Given the description of an element on the screen output the (x, y) to click on. 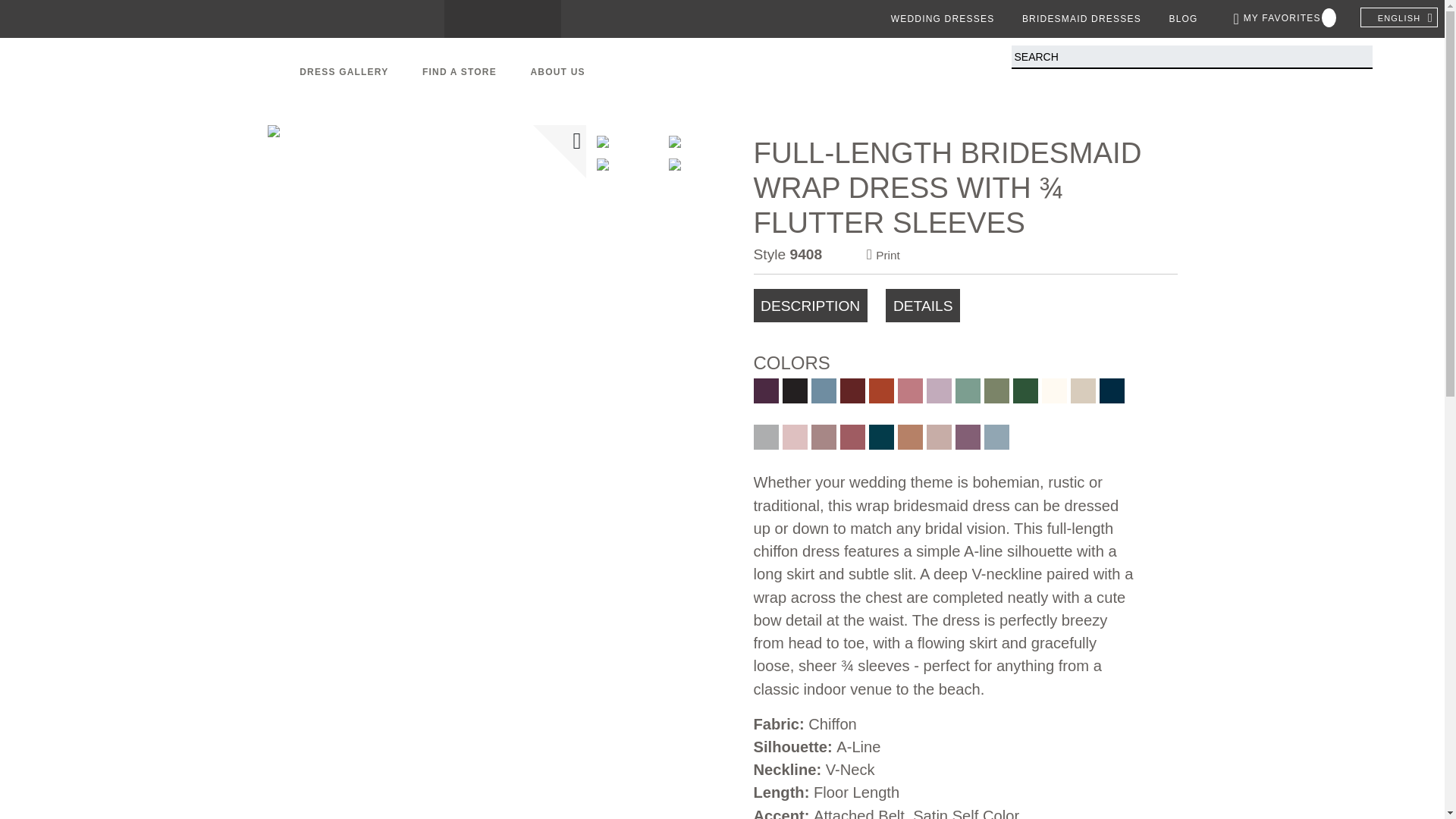
Bluestone (822, 390)
Eucalyptus (967, 390)
Dusty Lavender (939, 390)
Click to zoom (425, 267)
Linen (1083, 390)
My Favorites (1284, 17)
Black (795, 390)
Burgundy (852, 390)
Please enter at least three characters (1192, 56)
Forest (1025, 390)
